Given the description of an element on the screen output the (x, y) to click on. 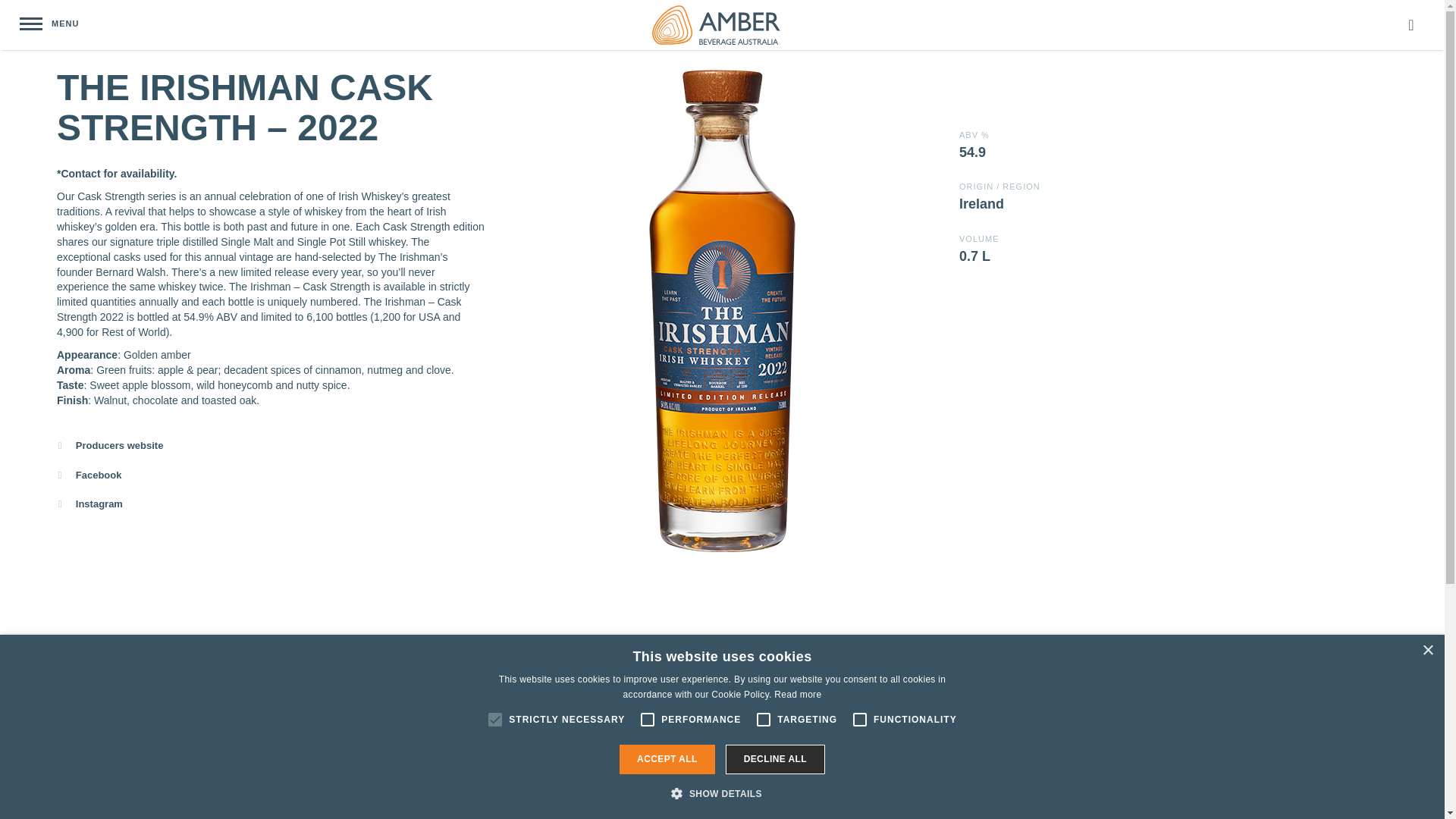
Producers website (268, 446)
Facebook (268, 475)
Instagram (268, 504)
Read more (797, 694)
